Given the description of an element on the screen output the (x, y) to click on. 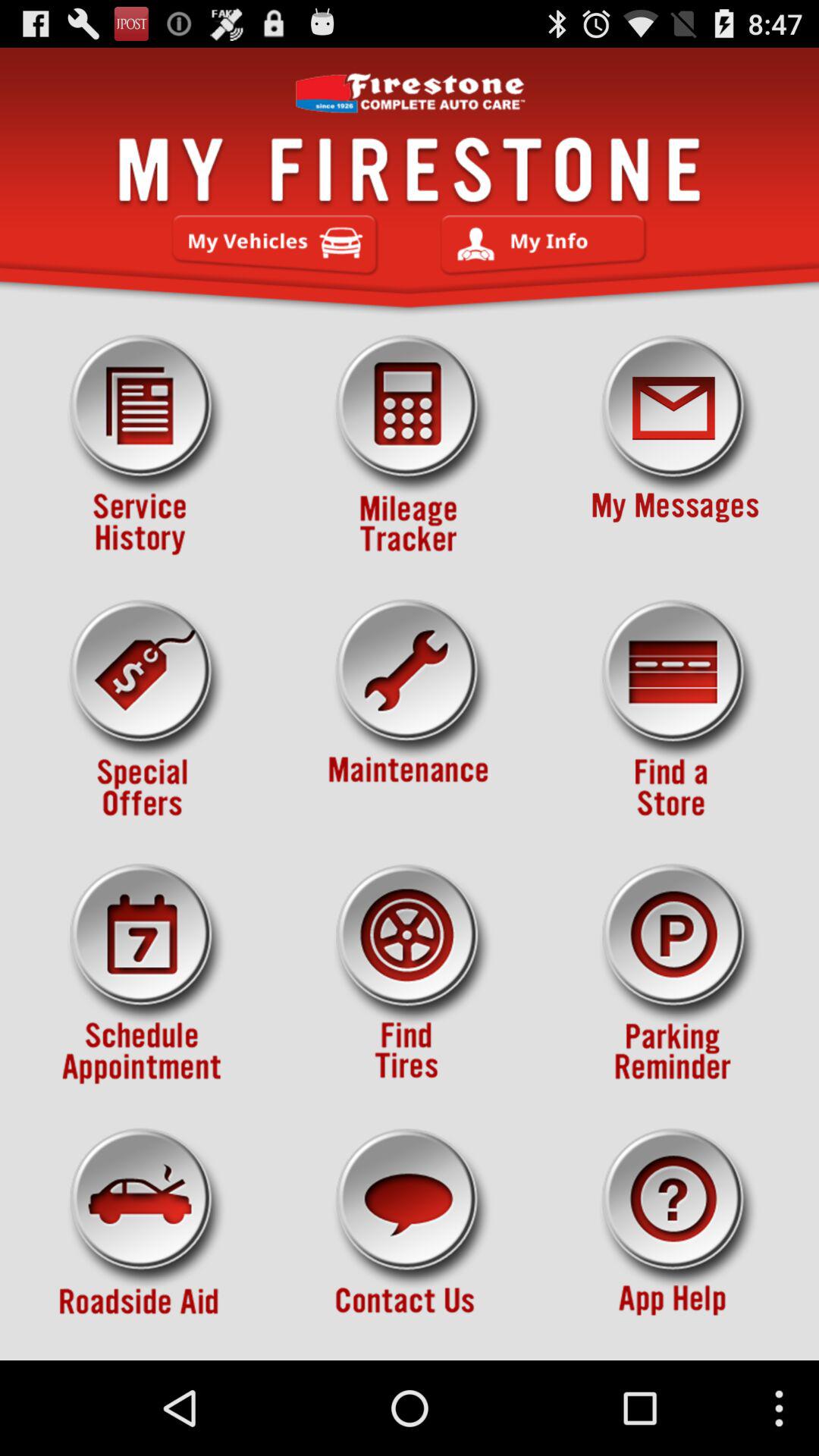
click the icon at the center (409, 709)
